Given the description of an element on the screen output the (x, y) to click on. 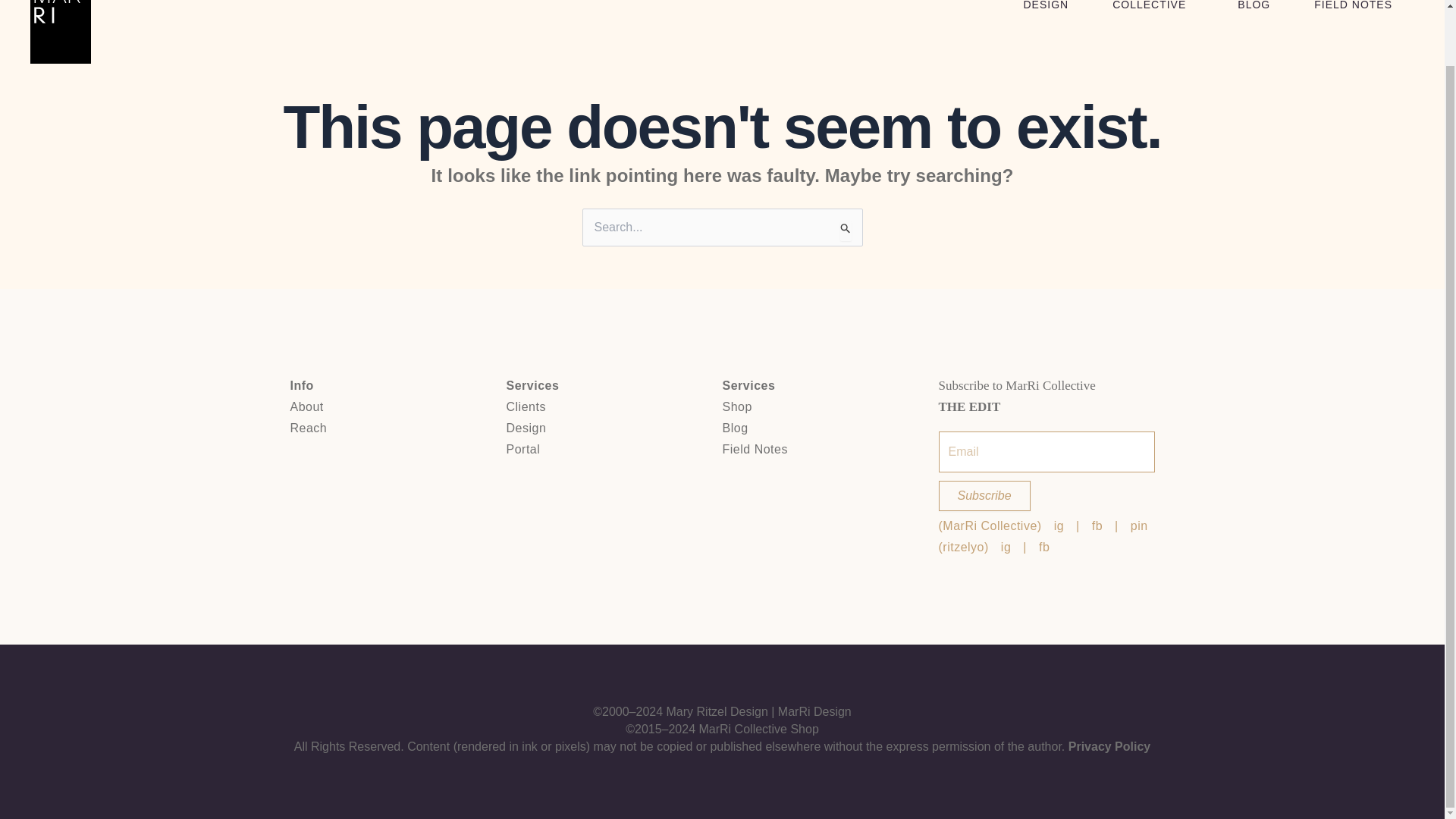
DESIGN (1045, 6)
About (397, 406)
Shop (829, 406)
Blog (829, 427)
Design (614, 427)
BLOG (1253, 6)
Subscribe (984, 495)
Field Notes (829, 449)
Clients (614, 406)
Reach (397, 427)
